Given the description of an element on the screen output the (x, y) to click on. 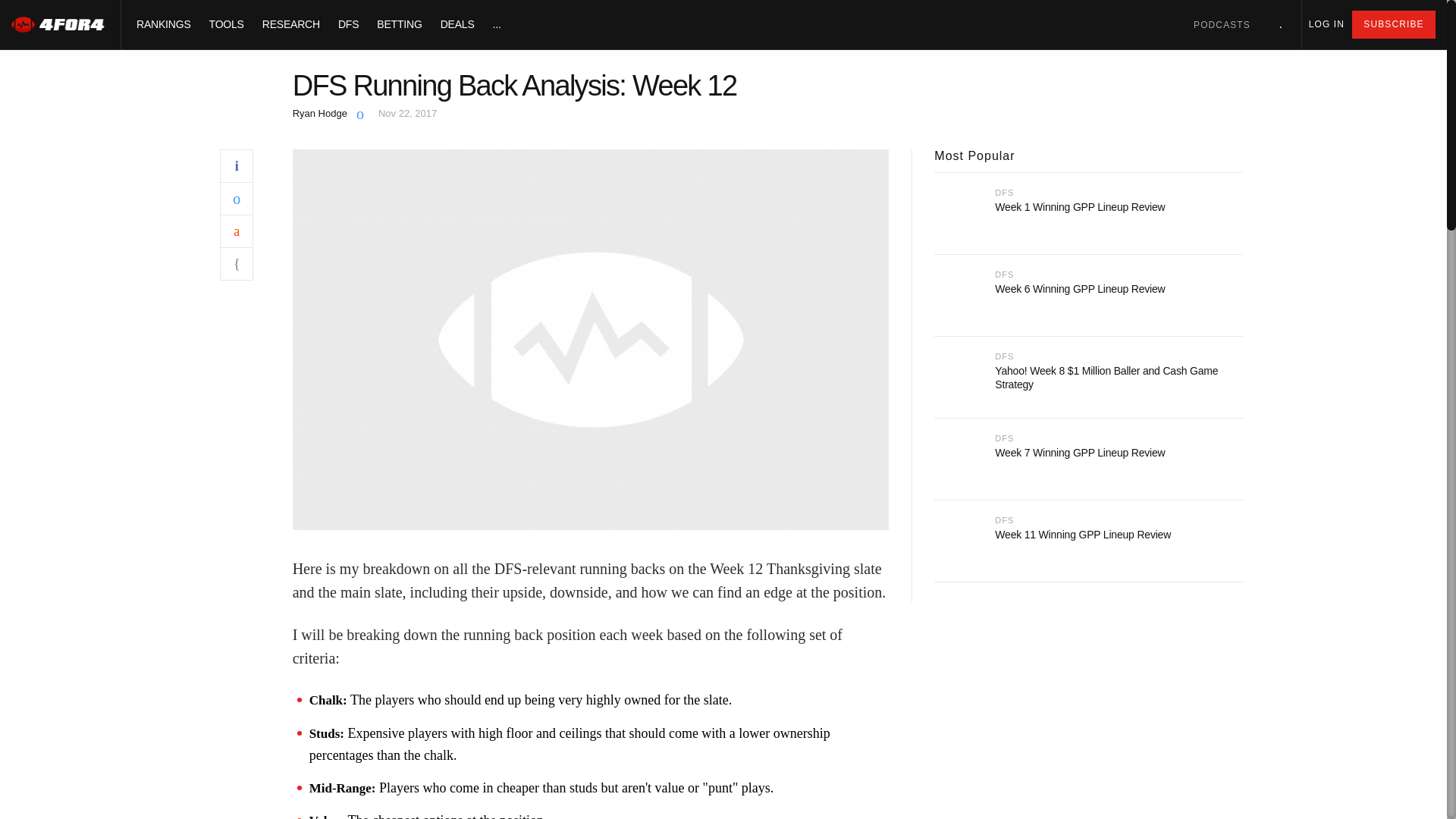
RANKINGS (163, 23)
Log in (1325, 24)
Share on Facebook (236, 165)
Share this on Twitter (236, 197)
Share this post via email (236, 263)
Submit this post on reddit.com (236, 230)
